Given the description of an element on the screen output the (x, y) to click on. 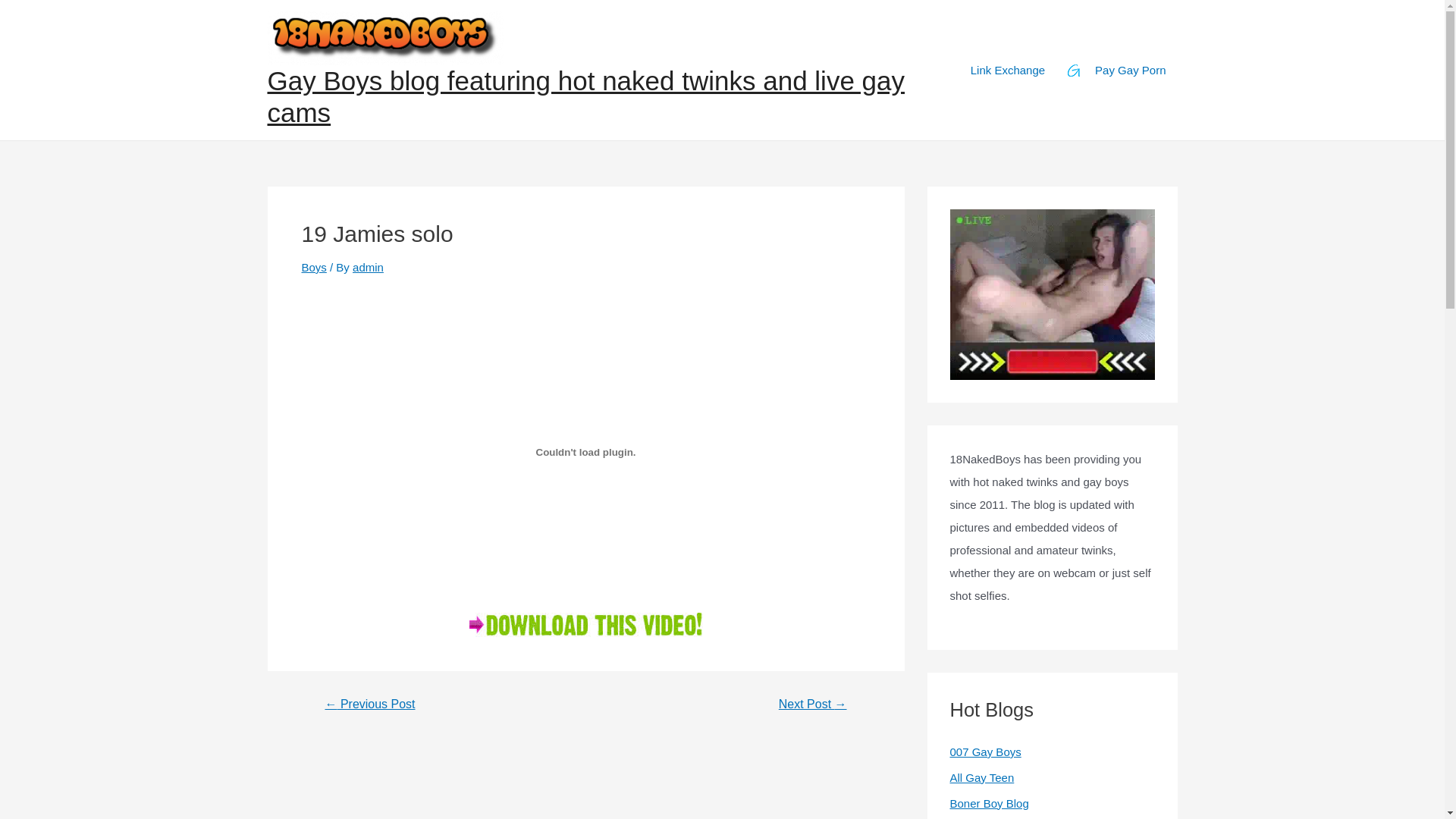
All Gay Teen Element type: text (981, 777)
Gay Boys blog featuring hot naked twinks and live gay cams Element type: text (585, 96)
Boys Element type: text (313, 266)
admin Element type: text (367, 266)
007 Gay Boys Element type: text (984, 751)
Boner Boy Blog Element type: text (988, 802)
Pay Gay Porn Element type: text (1116, 69)
Link Exchange Element type: text (1007, 69)
